Given the description of an element on the screen output the (x, y) to click on. 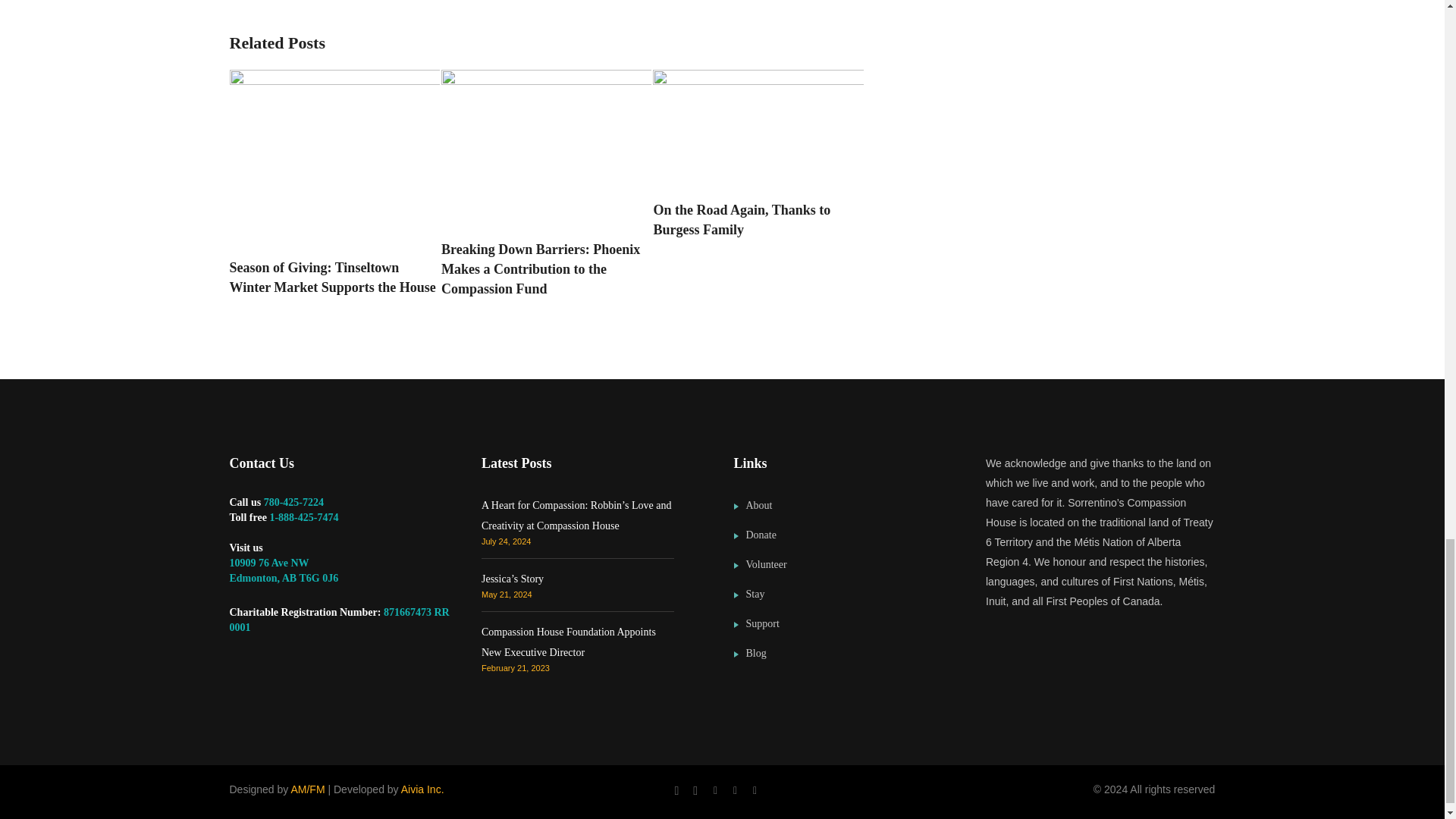
On the Road Again, Thanks to Burgess Family (757, 219)
